Given the description of an element on the screen output the (x, y) to click on. 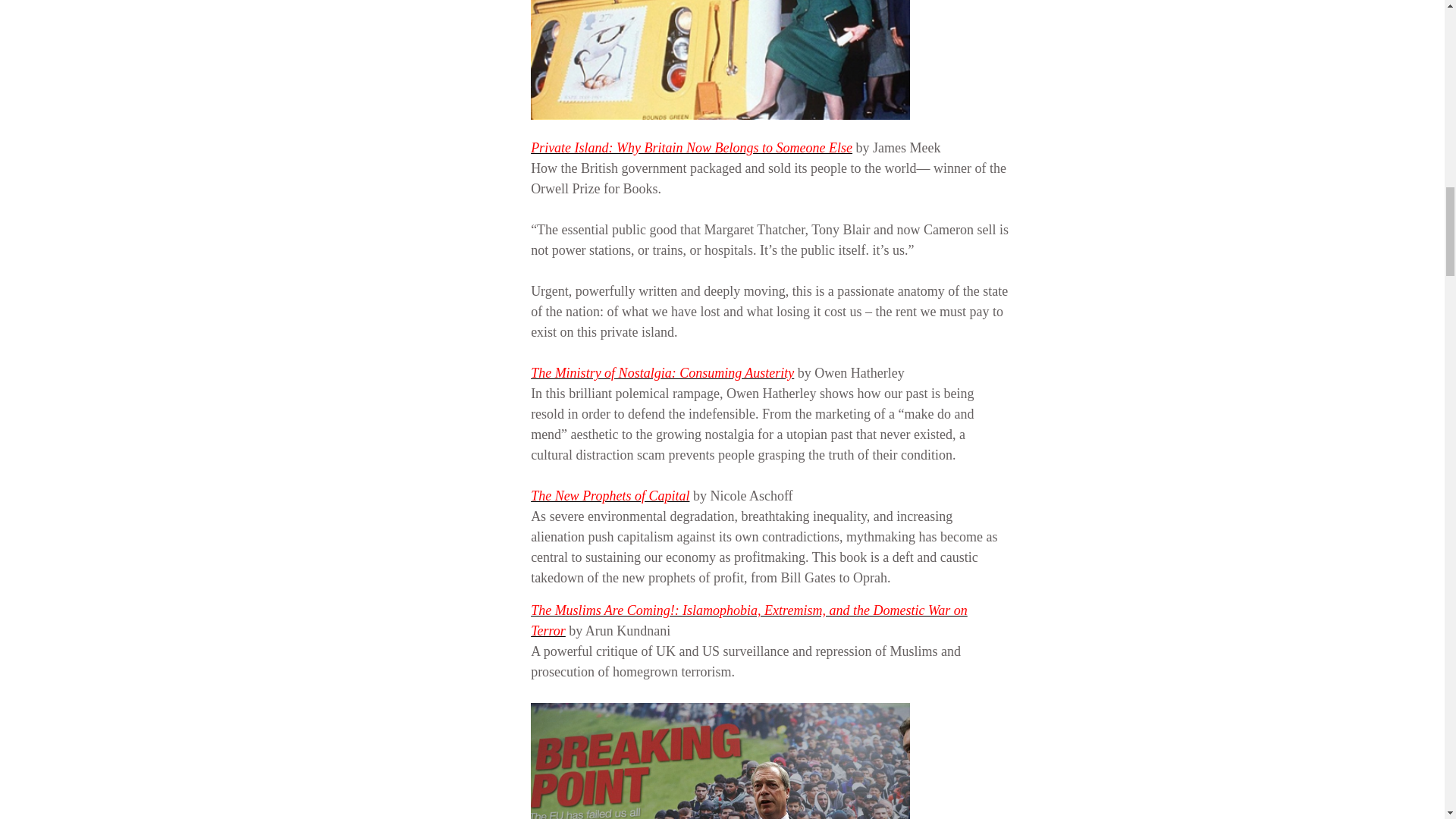
Private Island: Why Britain Now Belongs to Someone Else (691, 147)
The New Prophets of Capital (609, 495)
The Ministry of Nostalgia: Consuming Austerity (662, 372)
